Given the description of an element on the screen output the (x, y) to click on. 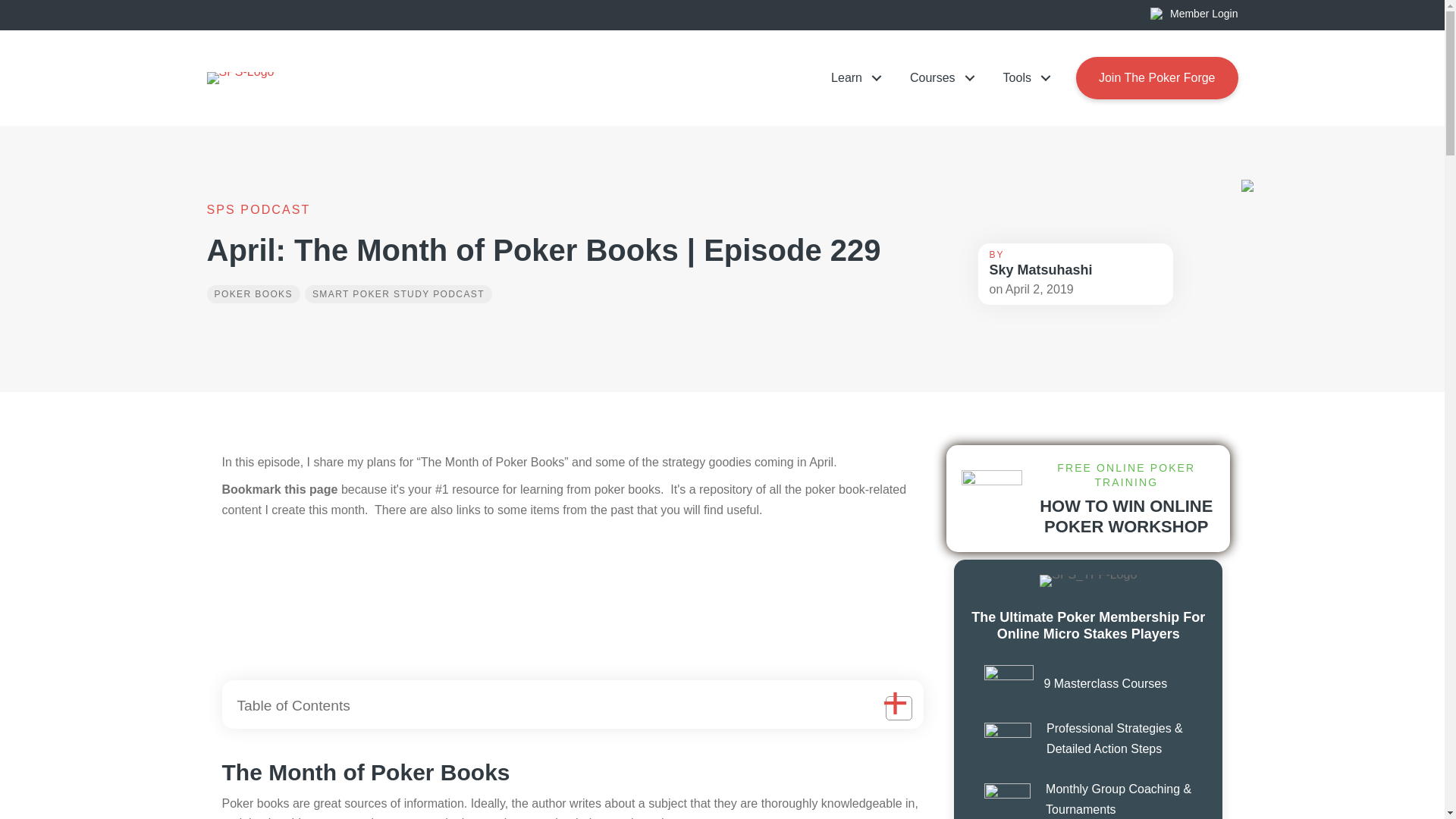
POKER BOOKS (252, 294)
SPS-Logo (239, 78)
Tools (1022, 78)
Member Login (1194, 13)
SMART POKER STUDY PODCAST (398, 294)
Courses (937, 78)
Learn (851, 78)
Join The Poker Forge (1157, 77)
